Given the description of an element on the screen output the (x, y) to click on. 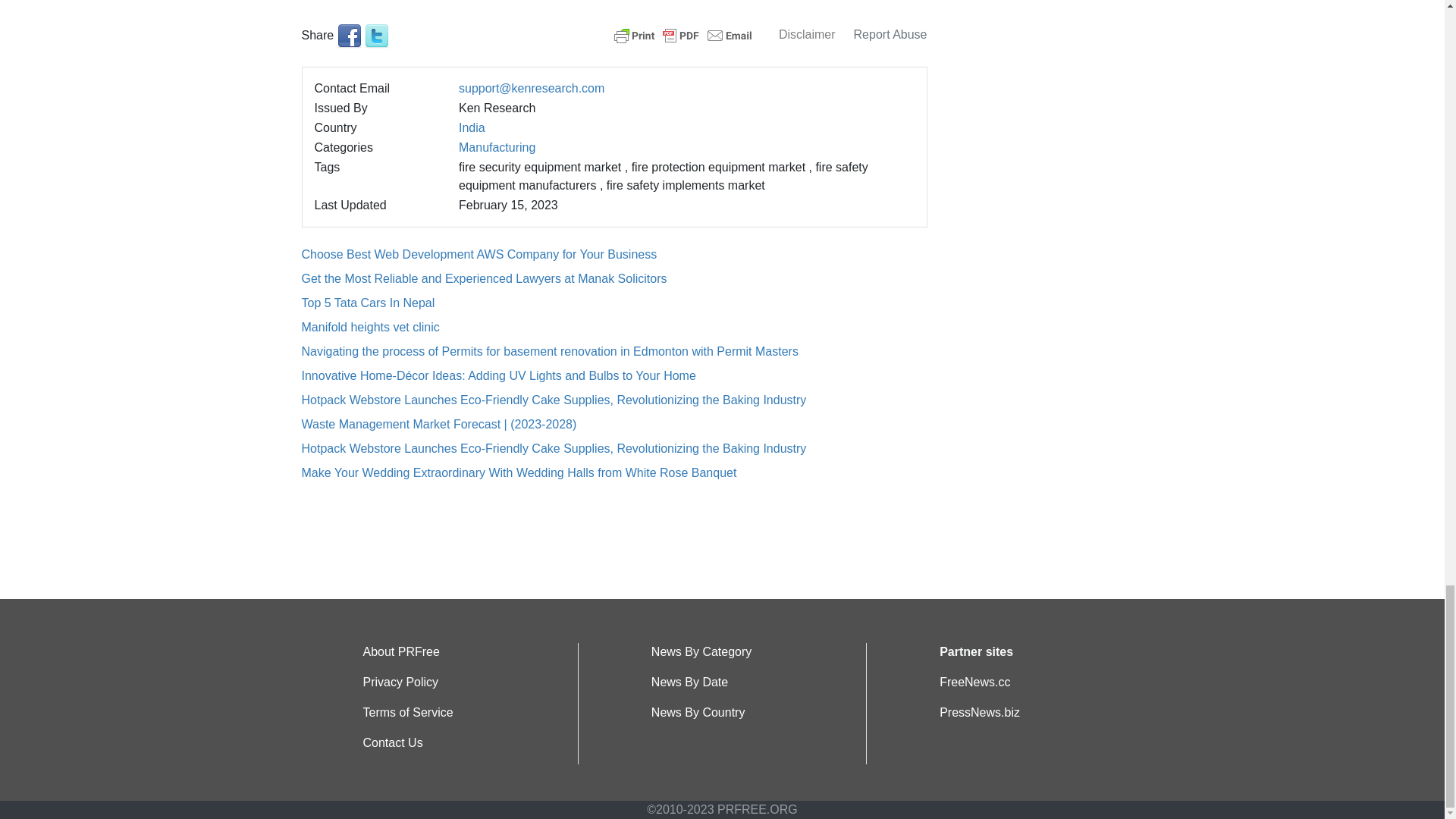
Contact Us (392, 742)
Choose Best Web Development AWS Company for Your Business (479, 254)
Terms of Service (407, 712)
About PRFree (400, 651)
Manifold heights vet clinic (370, 327)
India (471, 127)
Disclaimer (806, 33)
Report Abuse (890, 33)
Top 5 Tata Cars In Nepal (368, 302)
Privacy Policy (400, 681)
